Given the description of an element on the screen output the (x, y) to click on. 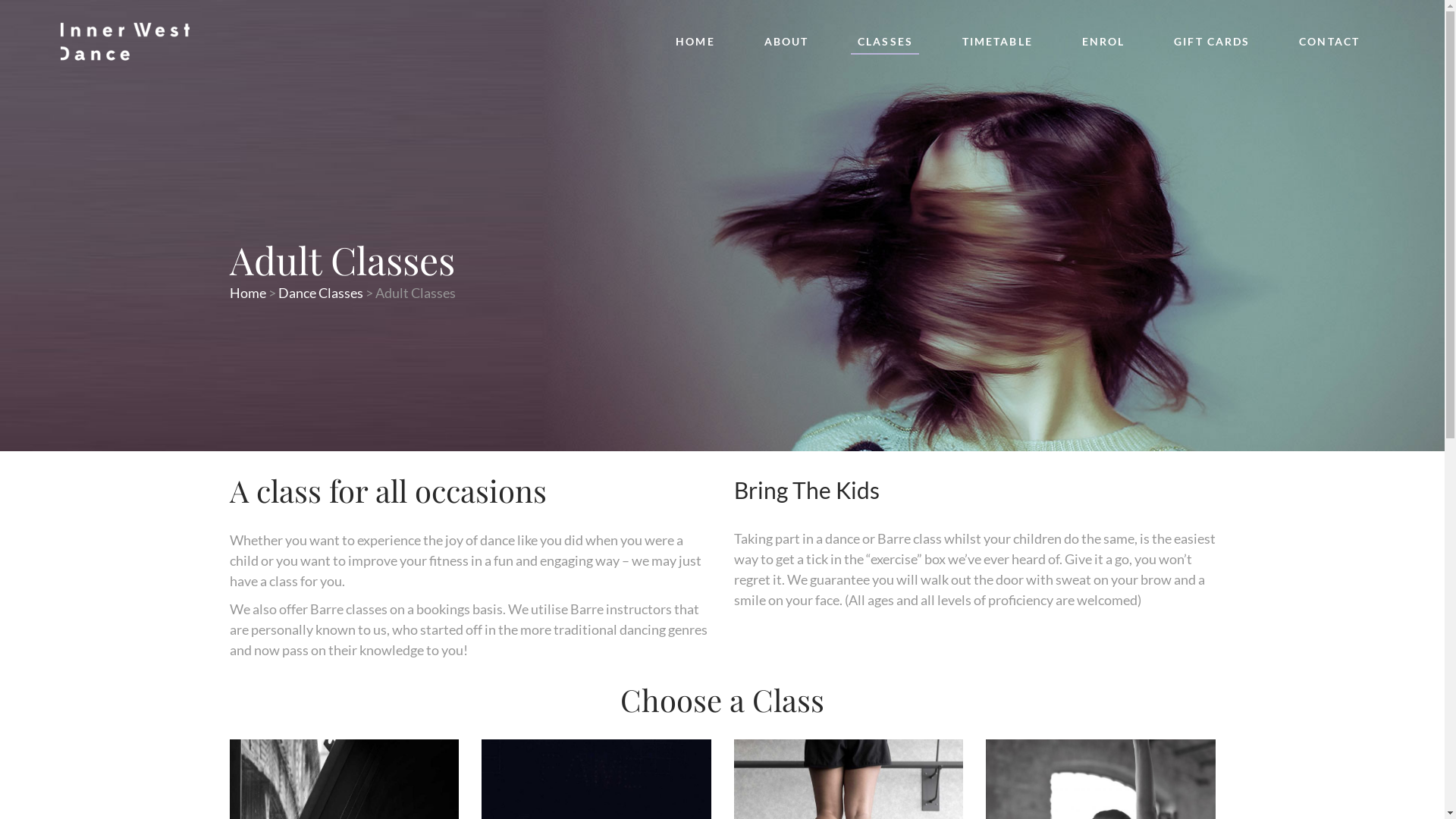
ENROL Element type: text (1103, 41)
ABOUT Element type: text (786, 41)
TIMETABLE Element type: text (997, 41)
Home Element type: text (247, 292)
CLASSES Element type: text (884, 41)
GIFT CARDS Element type: text (1211, 41)
HOME Element type: text (694, 41)
Dance Classes Element type: text (319, 292)
CONTACT Element type: text (1328, 41)
